Given the description of an element on the screen output the (x, y) to click on. 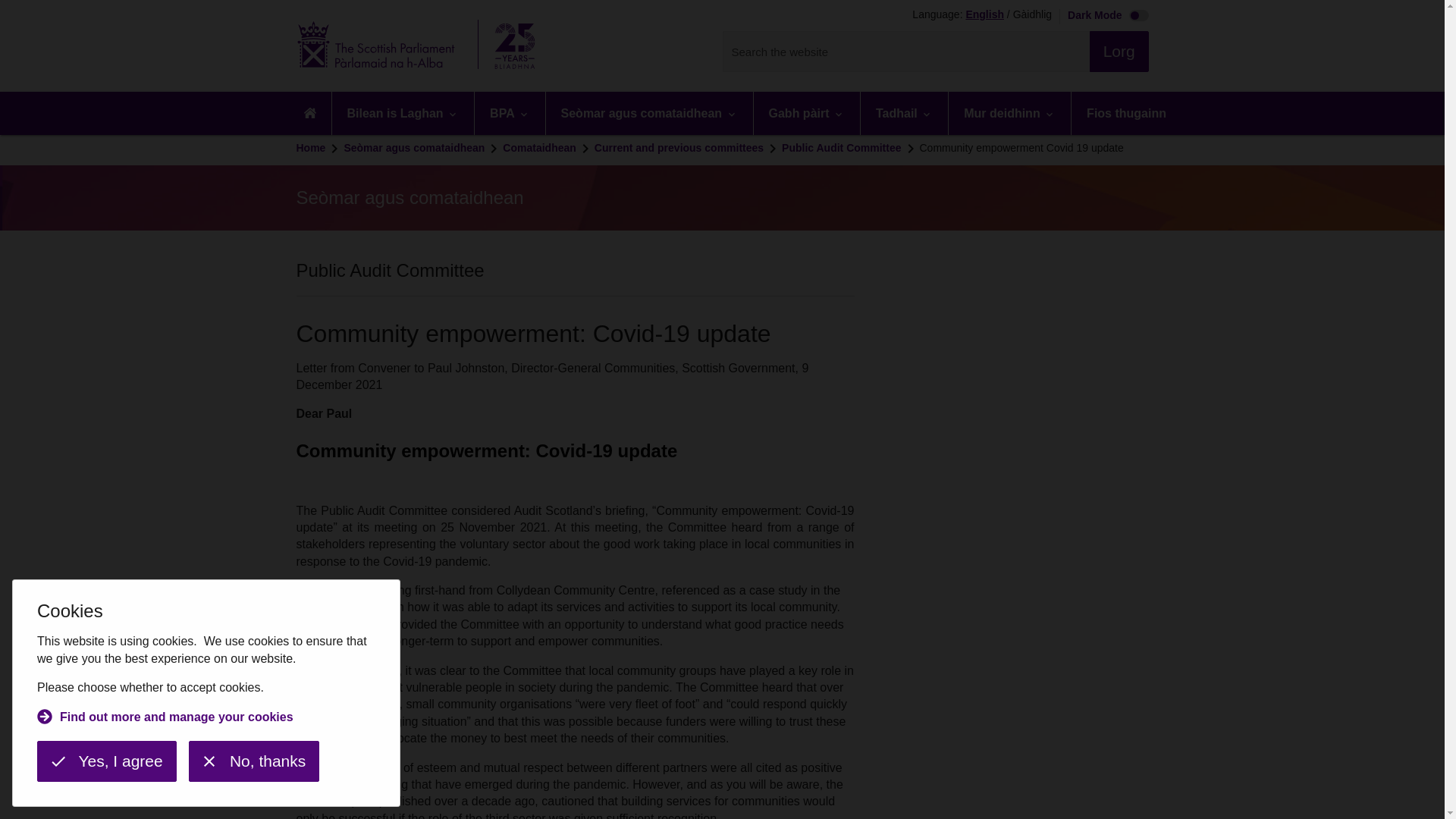
BPA (509, 113)
Lorg (1118, 51)
English (984, 15)
Scottish Parliament Website home (419, 45)
Dark Mode (1103, 16)
Yes, I agree (106, 761)
Find out more and manage your cookies (165, 718)
Bilean is Laghan (402, 113)
No, thanks (252, 761)
